Given the description of an element on the screen output the (x, y) to click on. 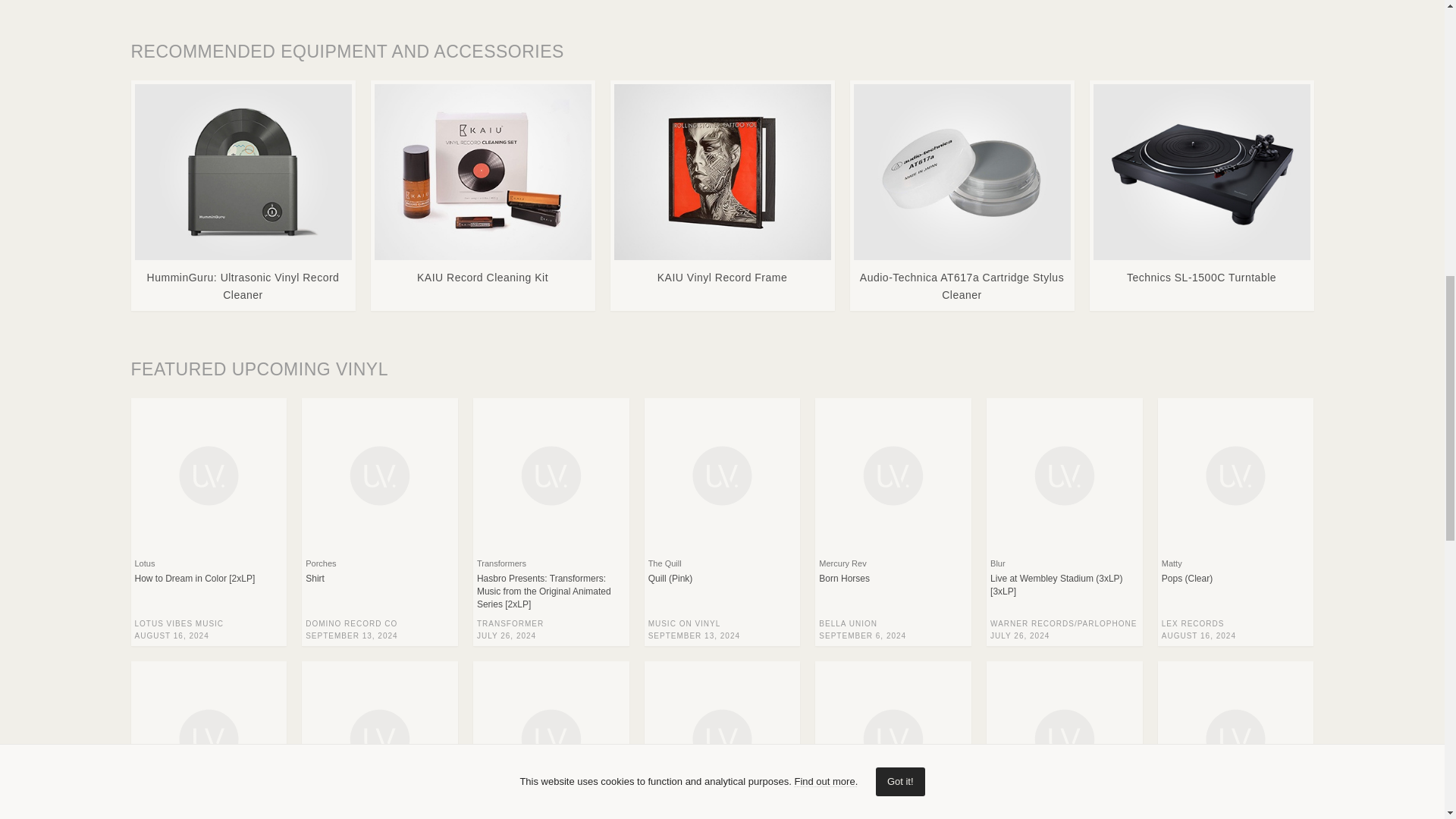
HumminGuru: Ultrasonic Vinyl Record Cleaner (243, 195)
KAIU Record Cleaning Kit (482, 187)
